Given the description of an element on the screen output the (x, y) to click on. 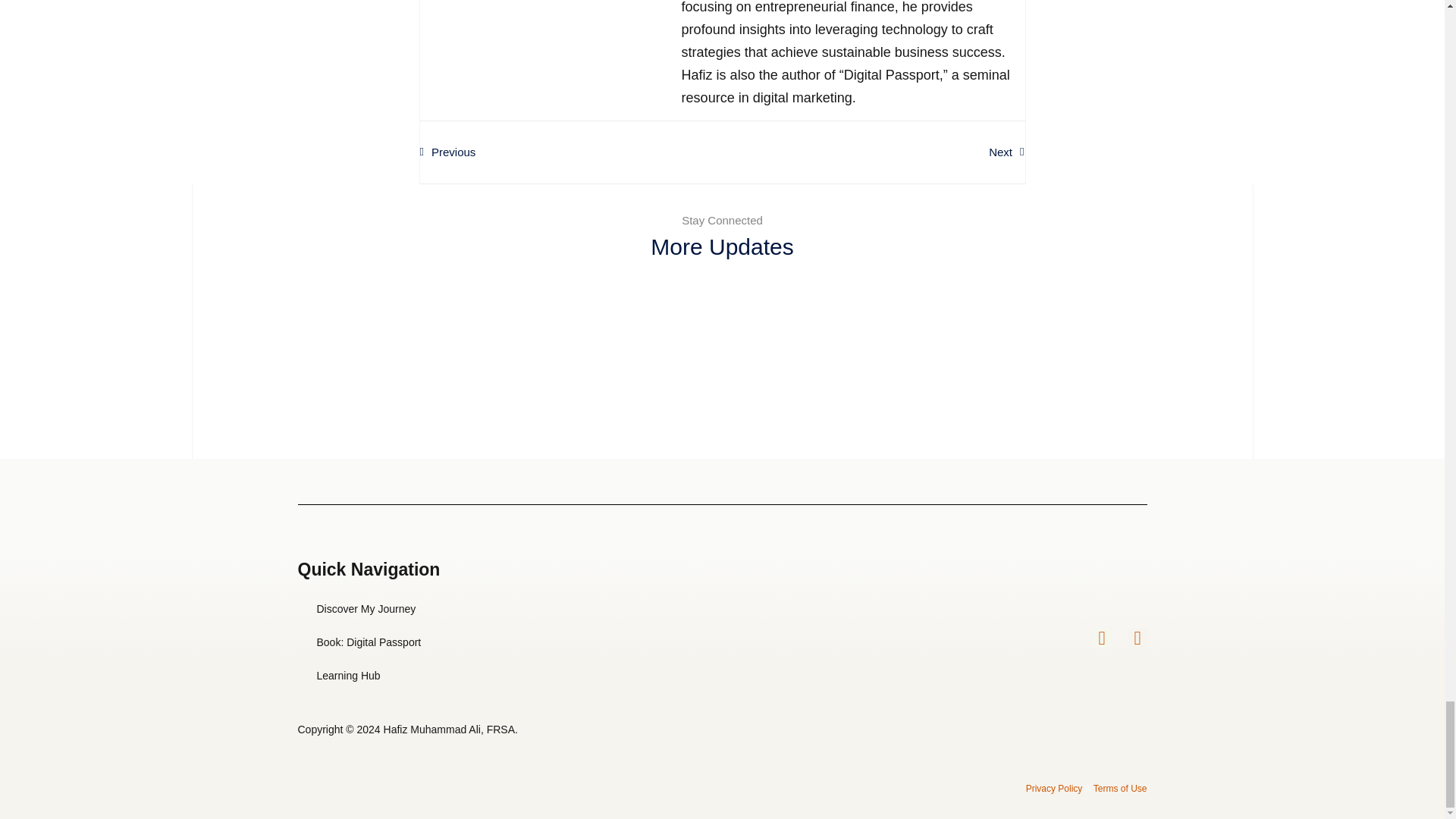
Discover My Journey (368, 608)
Book: Digital Passport (368, 642)
Privacy Policy (1054, 787)
Terms of Use (1120, 787)
Learning Hub (374, 675)
Previous (571, 152)
Next (873, 152)
